Given the description of an element on the screen output the (x, y) to click on. 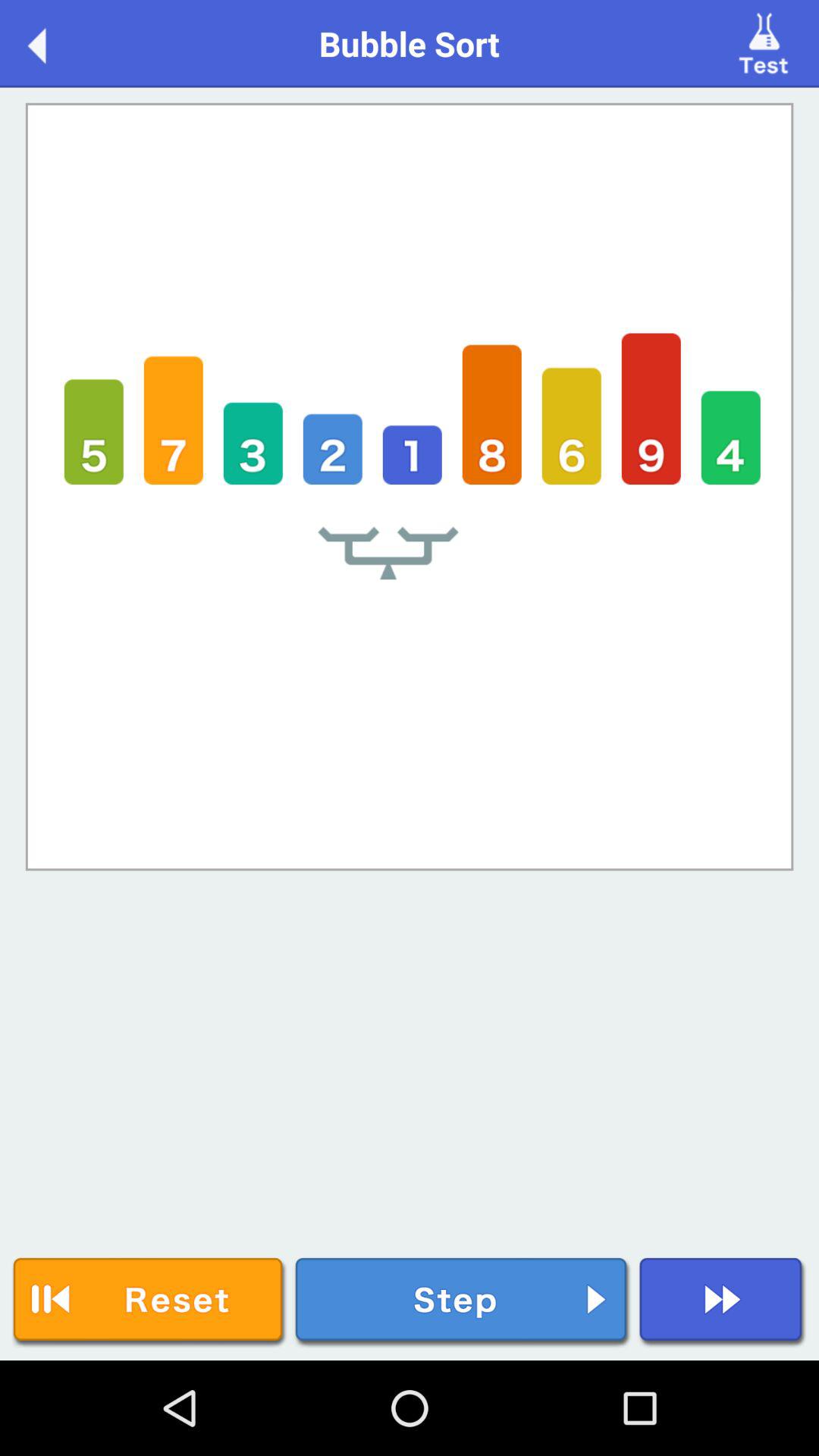
reset (149, 1302)
